Given the description of an element on the screen output the (x, y) to click on. 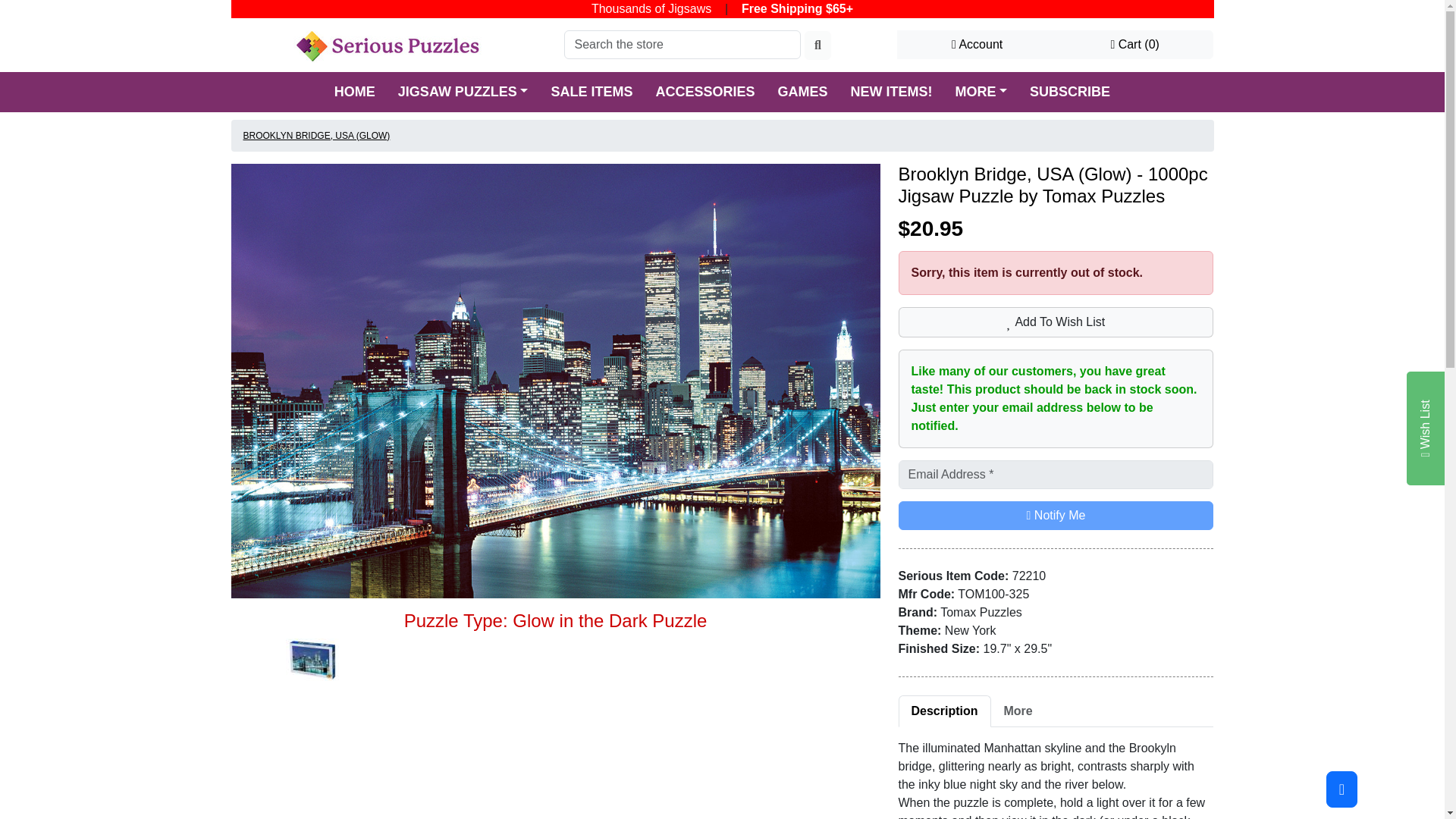
Account (976, 44)
Thousands of Jigsaws (651, 8)
Add To Wish List (1055, 321)
JIGSAW PUZZLES (463, 91)
HOME (355, 91)
